Given the description of an element on the screen output the (x, y) to click on. 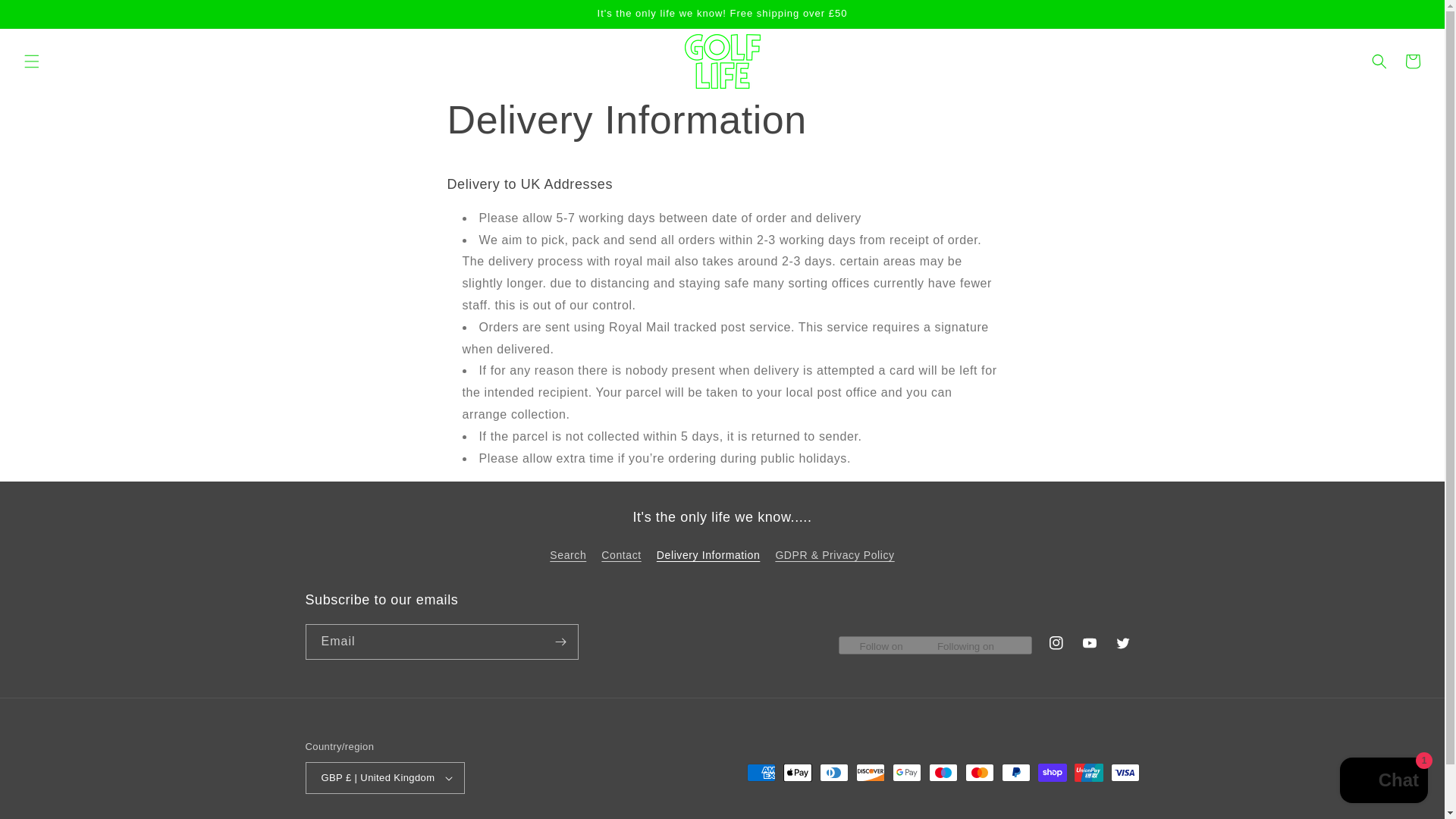
Instagram (1055, 643)
Skip to content (45, 17)
YouTube (1088, 643)
Shopify online store chat (1383, 781)
Cart (1412, 61)
Search (568, 557)
Twitter (1121, 643)
Delivery Information (708, 555)
Contact (620, 555)
